Given the description of an element on the screen output the (x, y) to click on. 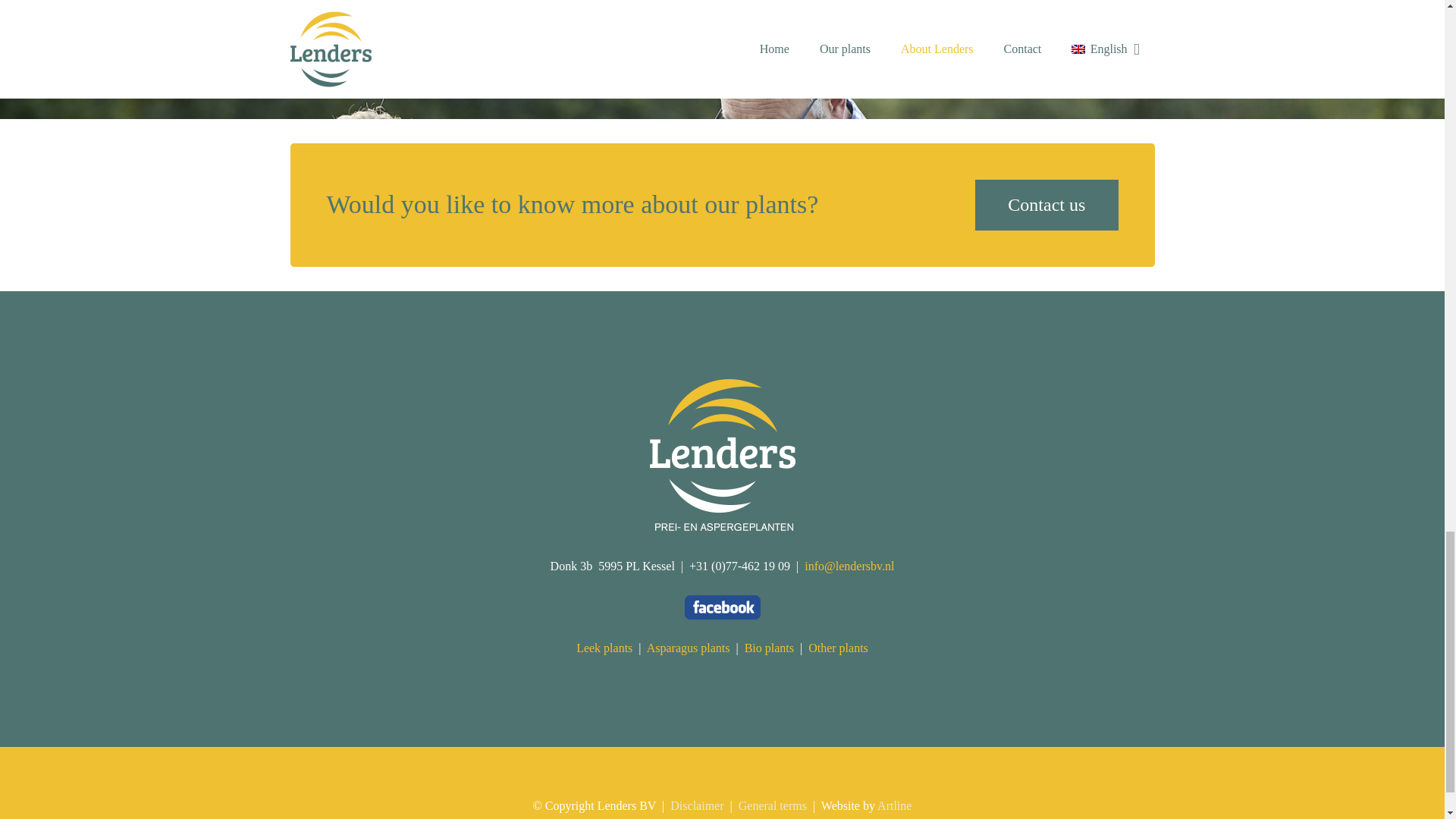
General terms (772, 805)
Contact us (1046, 204)
Bio plants (768, 647)
Artline (894, 805)
Other plants (837, 647)
Disclaimer (696, 805)
Bio plants (768, 647)
Asparagus plants (688, 647)
Leek plants (603, 647)
Leek plants (603, 647)
Disclaimer (696, 805)
General terms (772, 805)
Other plants (837, 647)
Asparagus plants (688, 647)
Preiplanten (721, 526)
